Given the description of an element on the screen output the (x, y) to click on. 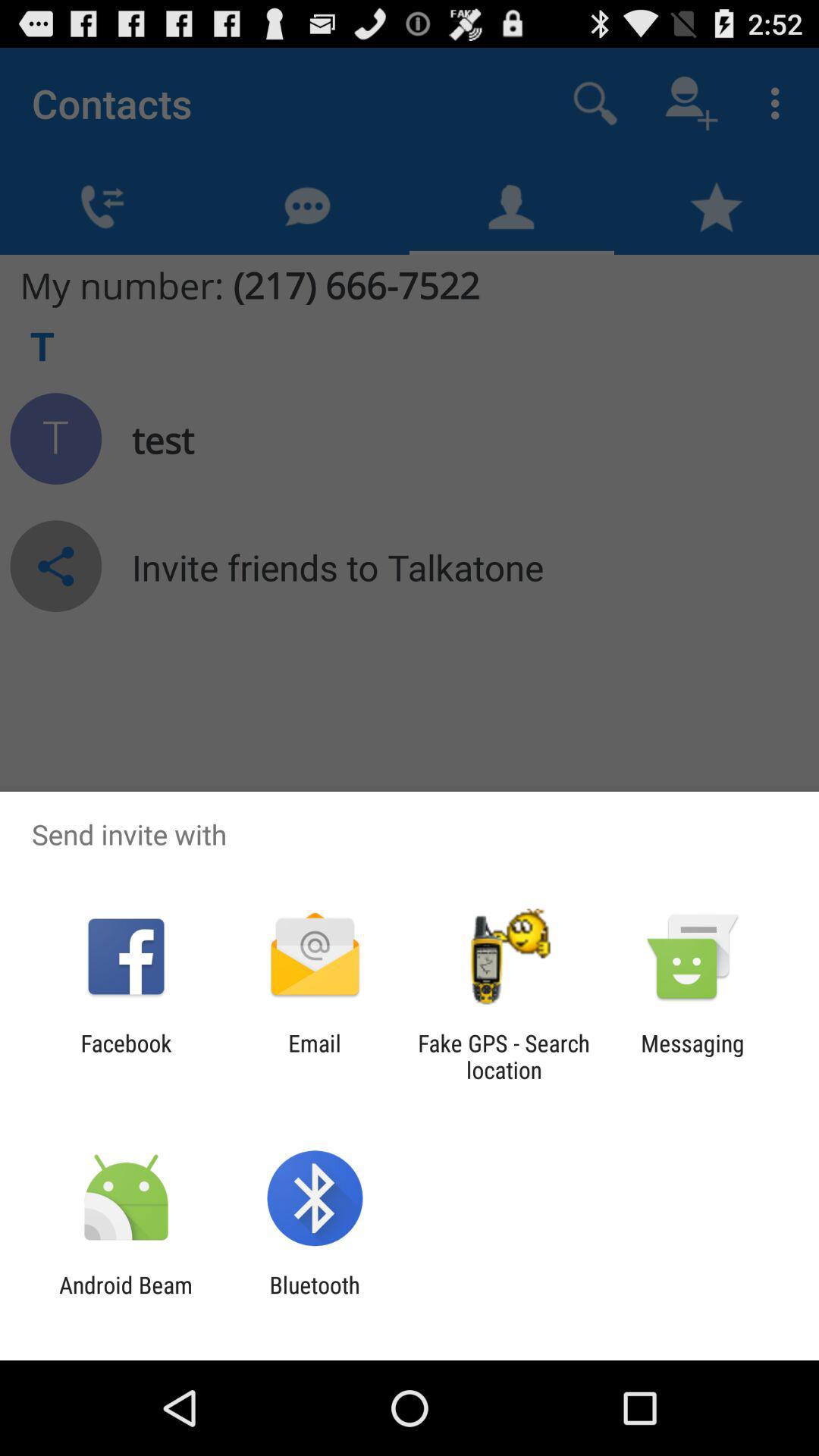
choose icon to the right of the email (503, 1056)
